Given the description of an element on the screen output the (x, y) to click on. 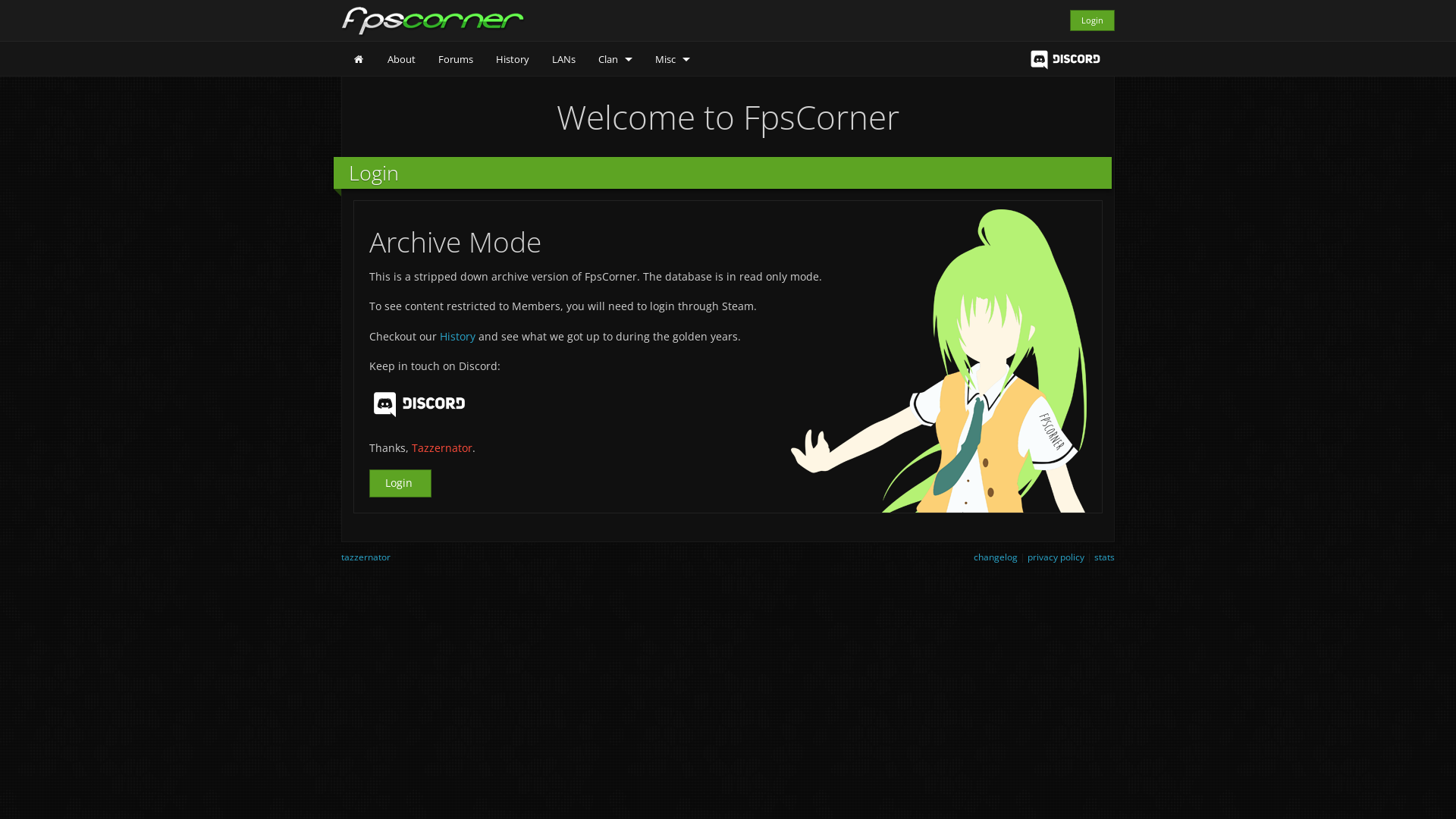
Login Element type: text (1092, 20)
Misc Element type: text (672, 58)
History Element type: text (512, 58)
Forums Element type: text (455, 58)
History Element type: text (457, 336)
Login  Element type: text (400, 483)
changelog Element type: text (995, 556)
stats Element type: text (1104, 556)
privacy policy Element type: text (1055, 556)
LANs Element type: text (563, 58)
About Element type: text (401, 58)
Clan Element type: text (614, 58)
Tazzernator Element type: text (441, 447)
tazzernator Element type: text (365, 556)
